Given the description of an element on the screen output the (x, y) to click on. 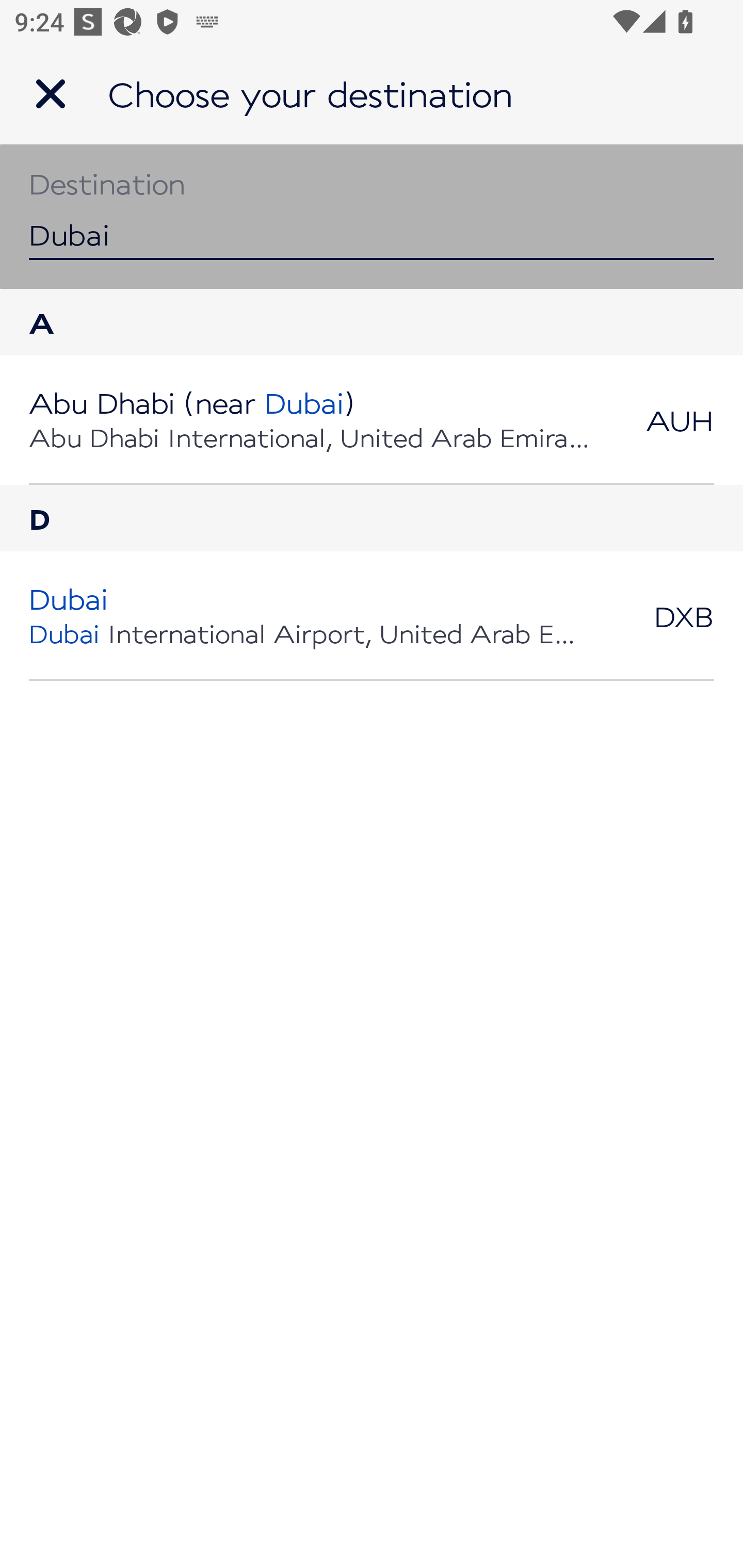
Navigate up (50, 93)
Dubai (371, 216)
